Given the description of an element on the screen output the (x, y) to click on. 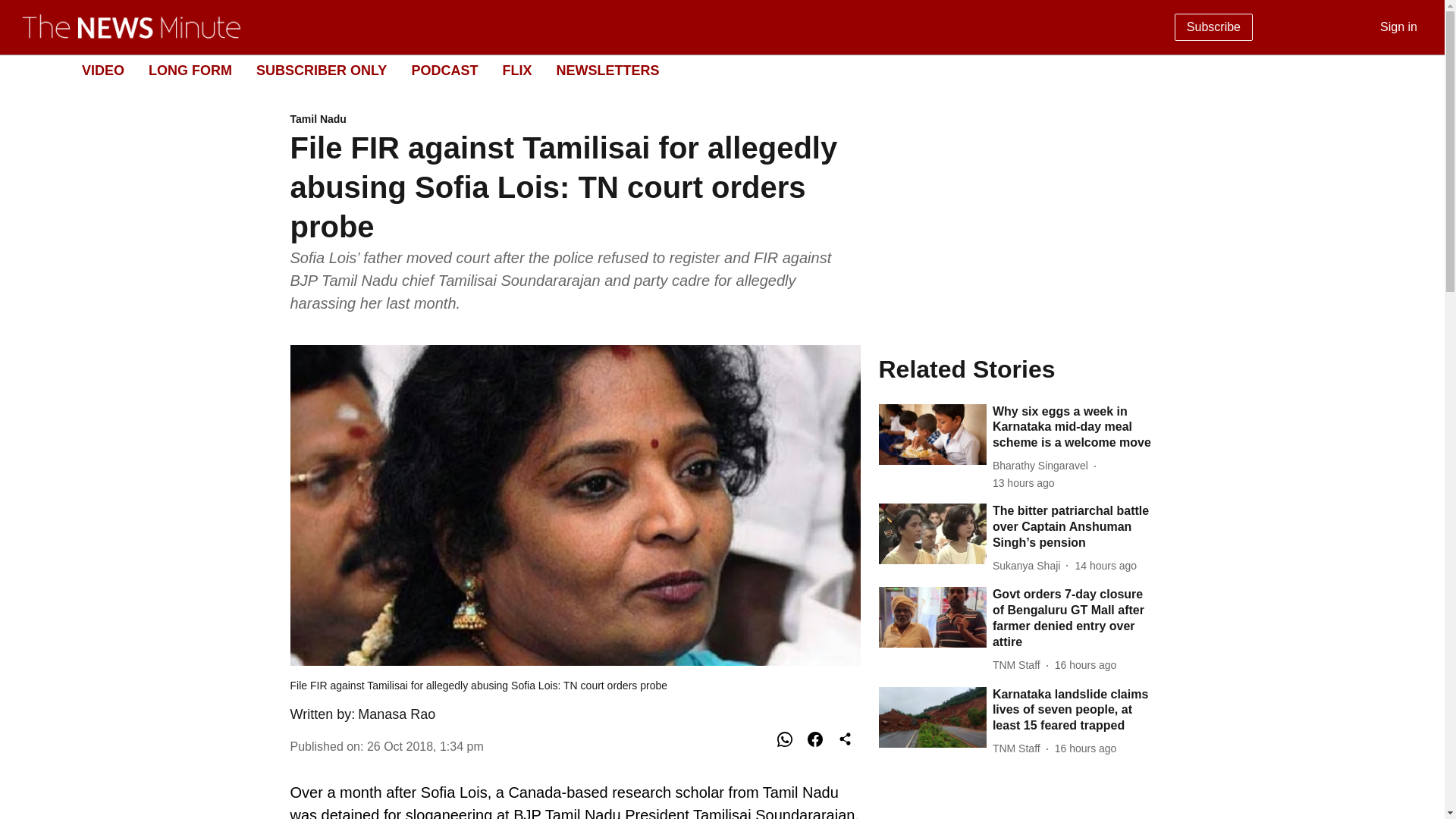
Related Stories (1015, 368)
FLIX (516, 70)
PODCAST (443, 70)
NEWSLETTERS (607, 70)
2018-10-26 05:34 (424, 746)
Manasa Rao (709, 70)
2024-07-18 13:37 (396, 713)
Bharathy Singaravel (1023, 483)
Dark Mode (1043, 465)
2024-07-18 10:47 (1415, 70)
VIDEO (1085, 665)
Sukanya Shaji (102, 70)
